Given the description of an element on the screen output the (x, y) to click on. 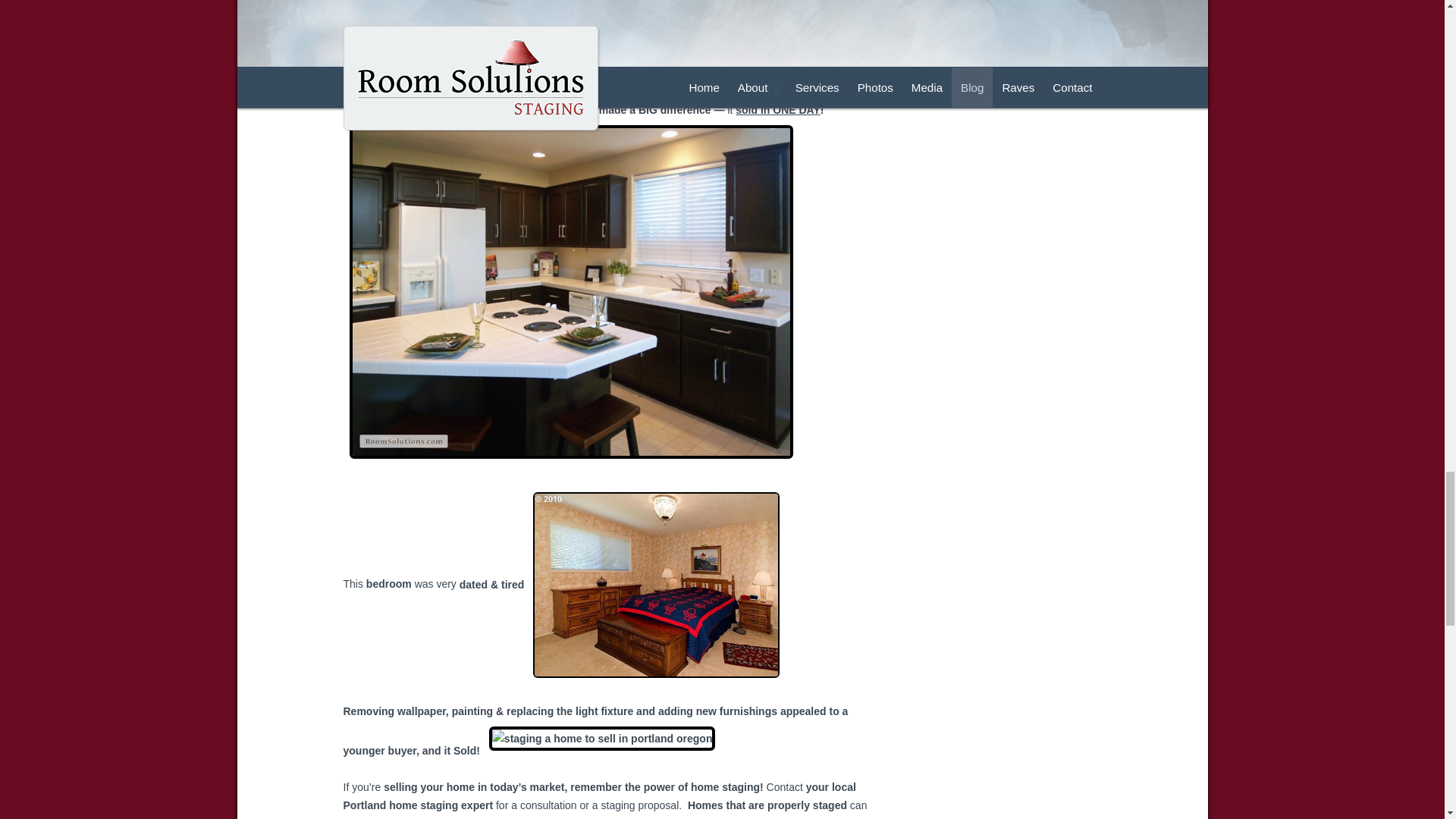
home staging beaverton oregon (684, 38)
portland house stagers 97221 (655, 585)
staging a home to sell in portland oregon (602, 738)
